Given the description of an element on the screen output the (x, y) to click on. 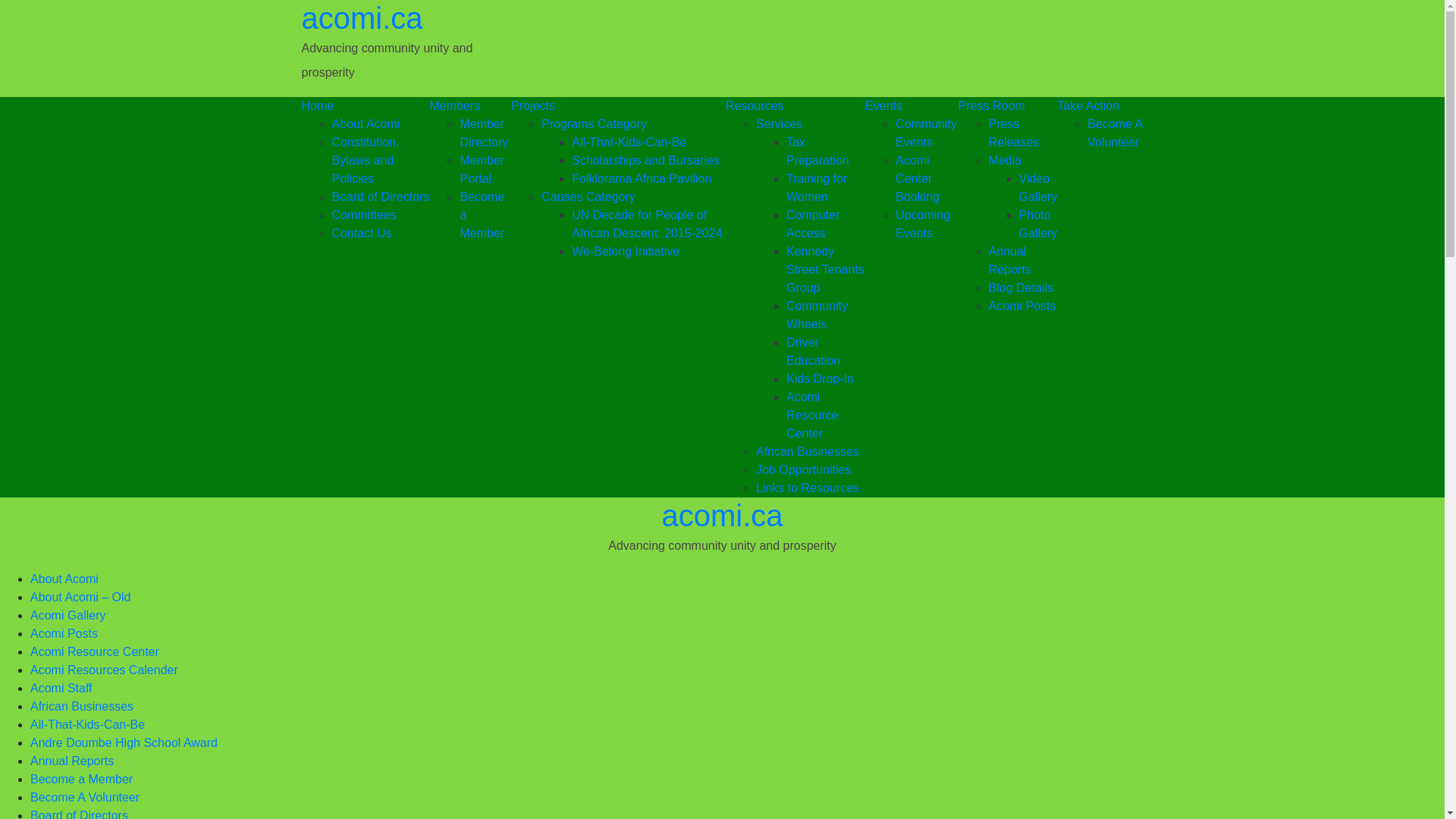
Training for Women Element type: text (825, 187)
Links to Resources Element type: text (810, 488)
Become A Volunteer Element type: text (84, 796)
Become a Member Element type: text (485, 215)
UN Decade for People of African Descent: 2015-2024 Element type: text (648, 224)
We-Belong Initiative Element type: text (648, 251)
African Businesses Element type: text (810, 451)
Press Room Element type: text (1007, 106)
Photo Gallery Element type: text (1038, 224)
Tax Preparation Element type: text (825, 151)
Community Events Element type: text (926, 133)
Upcoming Events Element type: text (926, 224)
Member Portal Element type: text (485, 169)
Home Element type: text (365, 106)
About Acomi Element type: text (64, 578)
Projects Element type: text (618, 106)
All-That-Kids-Can-Be Element type: text (648, 142)
African Businesses Element type: text (81, 705)
Blog Details Element type: text (1022, 288)
Annual Reports Element type: text (1022, 260)
Scholarships and Bursaries Element type: text (648, 160)
Acomi Posts Element type: text (1022, 306)
Press Releases Element type: text (1022, 133)
Media Element type: text (1022, 160)
Contact Us Element type: text (380, 233)
Causes Category Element type: text (633, 197)
Acomi Posts Element type: text (63, 633)
Kids Drop-In Element type: text (825, 379)
Resources Element type: text (795, 106)
Members Element type: text (470, 106)
Driver Education Element type: text (825, 351)
Services Element type: text (810, 124)
Acomi Gallery Element type: text (68, 614)
Computer Access Element type: text (825, 224)
Acomi Resource Center Element type: text (94, 651)
Folklorama Africa Pavilion Element type: text (648, 178)
Acomi Resources Calender Element type: text (104, 669)
About Acomi Element type: text (380, 124)
Acomi Center Booking Element type: text (926, 178)
Committees Element type: text (380, 215)
Kennedy Street Tenants Group Element type: text (825, 269)
Take Action Element type: text (1099, 106)
Community Wheels Element type: text (825, 315)
Programs Category Element type: text (633, 124)
Constitution, Bylaws and Policies Element type: text (380, 160)
Acomi Resource Center Element type: text (825, 415)
acomi.ca Element type: text (721, 515)
All-That-Kids-Can-Be Element type: text (87, 724)
Board of Directors Element type: text (380, 197)
Acomi Staff Element type: text (61, 687)
Annual Reports Element type: text (71, 760)
Member Directory Element type: text (485, 133)
Become a Member Element type: text (81, 778)
Video Gallery Element type: text (1038, 187)
Andre Doumbe High School Award Element type: text (123, 742)
Become A Volunteer Element type: text (1114, 133)
Job Opportunities Element type: text (810, 470)
Events Element type: text (911, 106)
acomi.ca Element type: text (362, 17)
